Given the description of an element on the screen output the (x, y) to click on. 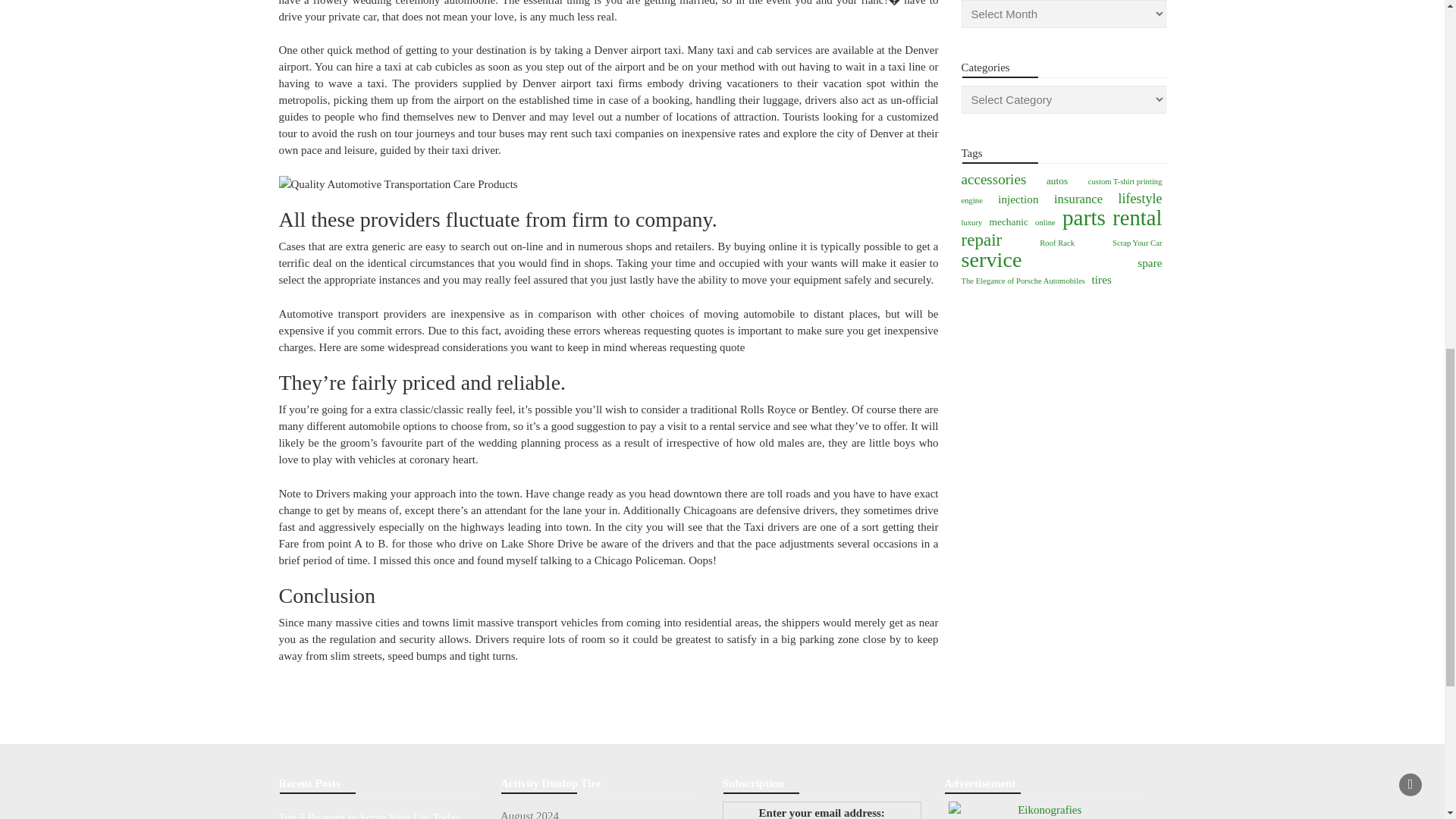
injection (1017, 199)
custom T-shirt printing (1124, 181)
engine (971, 200)
autos (1056, 180)
accessories (993, 179)
